Given the description of an element on the screen output the (x, y) to click on. 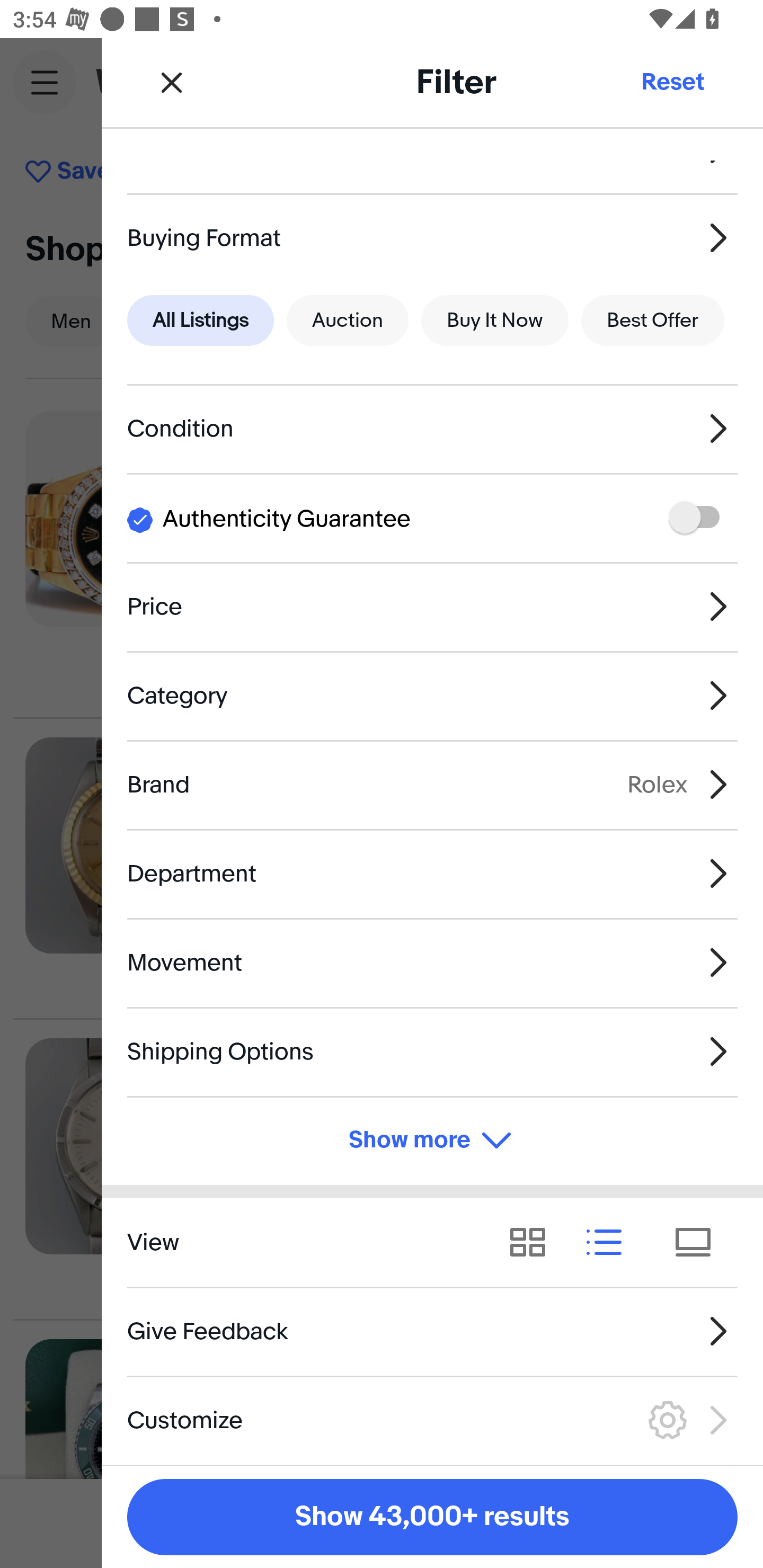
Close Filter (171, 81)
Reset (672, 81)
Buying Format (432, 237)
All Listings (200, 320)
Auction (347, 320)
Buy It Now (494, 320)
Best Offer (652, 320)
Condition (432, 428)
I  Authenticity Guarantee (432, 517)
Price (432, 605)
Category (432, 695)
Brand Rolex (432, 784)
Department (432, 873)
Movement (432, 961)
Shipping Options (432, 1051)
Show more (432, 1140)
View results as grid (533, 1242)
View results as list (610, 1242)
View results as tiles (699, 1242)
Customize (432, 1419)
Show 43,000+ results (432, 1516)
